Given the description of an element on the screen output the (x, y) to click on. 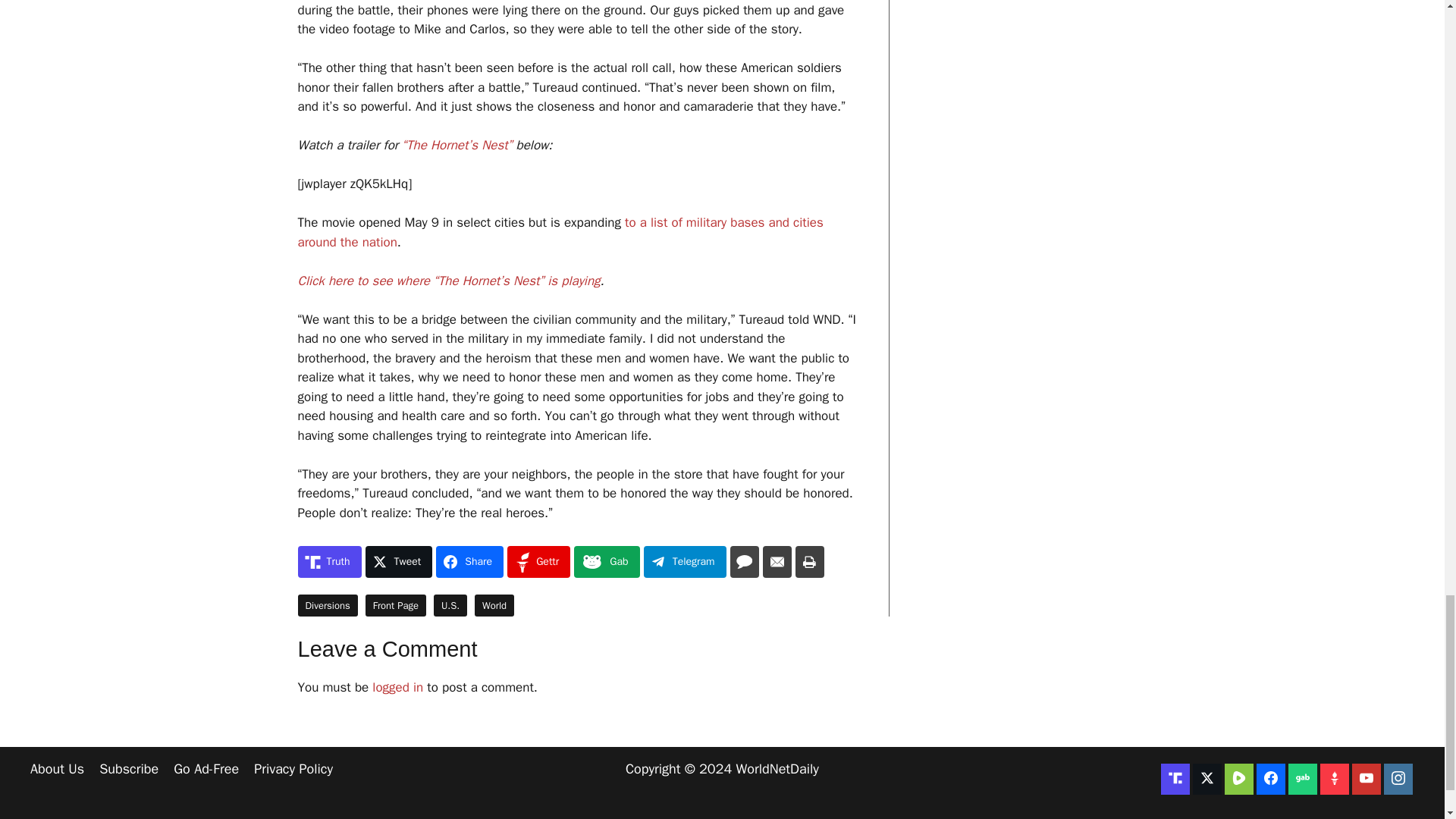
Share on Share (469, 562)
Share on Truth (329, 562)
Share on Gettr (538, 562)
Share on Tweet (398, 562)
